Given the description of an element on the screen output the (x, y) to click on. 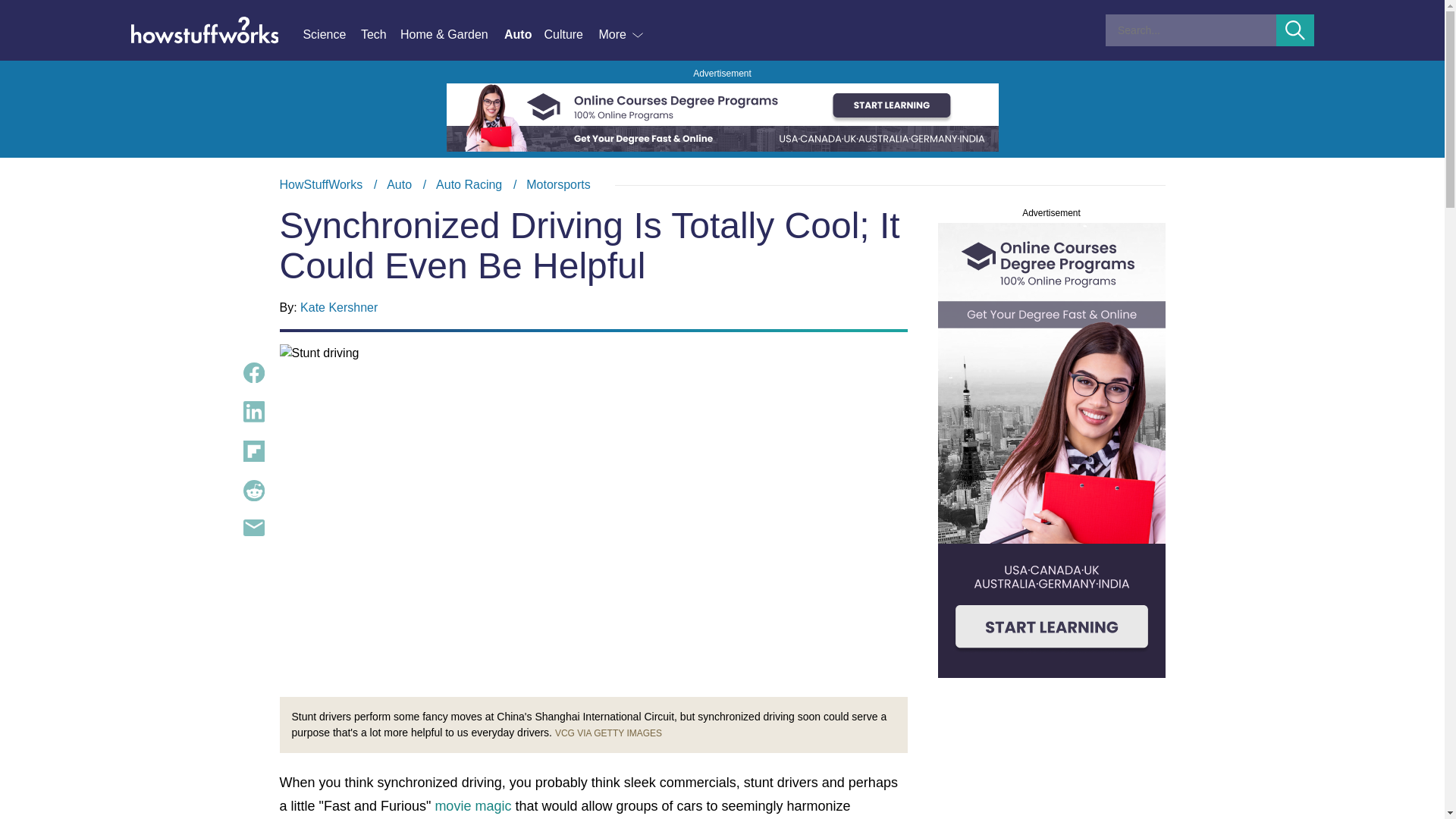
Culture (570, 34)
Share Content on Reddit (253, 490)
More (621, 34)
Share Content on Flipboard (253, 450)
Share Content via Email (253, 527)
Motorsports (557, 184)
Share Content on Facebook (253, 372)
Share Content on LinkedIn (721, 185)
Tech (253, 411)
Auto (380, 34)
Auto (399, 184)
HowStuffWorks (523, 34)
Submit Search (320, 184)
Science (1295, 29)
